Given the description of an element on the screen output the (x, y) to click on. 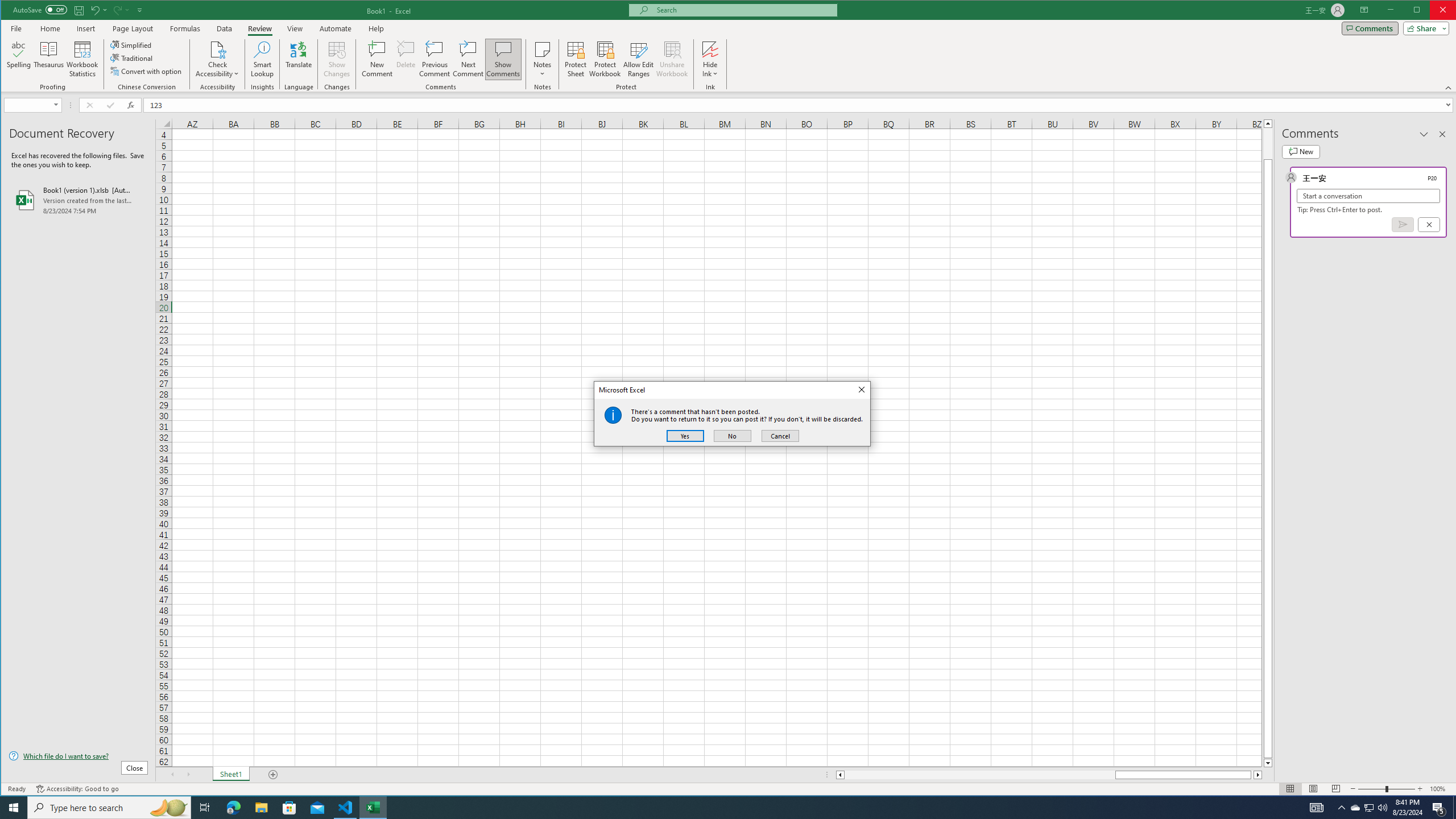
Column left (839, 774)
Visual Studio Code - 1 running window (345, 807)
Redo (116, 9)
Zoom (1386, 788)
Open (56, 105)
Page Break Preview (1335, 788)
Save (79, 9)
AutomationID: 4105 (1316, 807)
Start (13, 807)
Close (860, 389)
Ribbon Display Options (1364, 9)
Add Sheet (272, 774)
Page left (979, 774)
Page Layout (1312, 788)
Page Layout (132, 28)
